Given the description of an element on the screen output the (x, y) to click on. 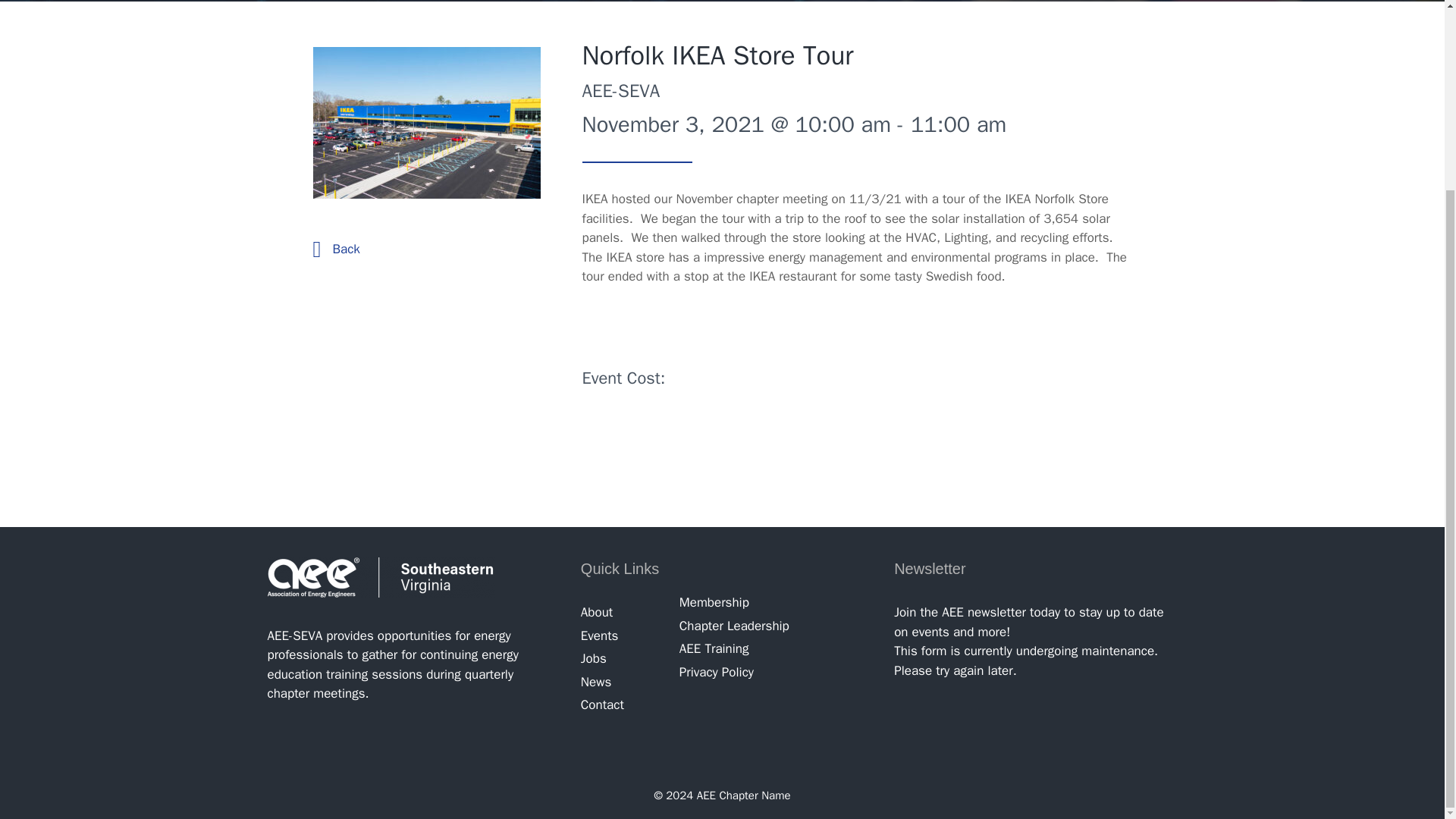
Events (599, 635)
Jobs (593, 658)
Back (345, 249)
AEE Training (714, 648)
Contact (602, 704)
About (596, 611)
Privacy Policy (716, 672)
News (595, 682)
Chapter Leadership (734, 625)
Membership (714, 602)
